Given the description of an element on the screen output the (x, y) to click on. 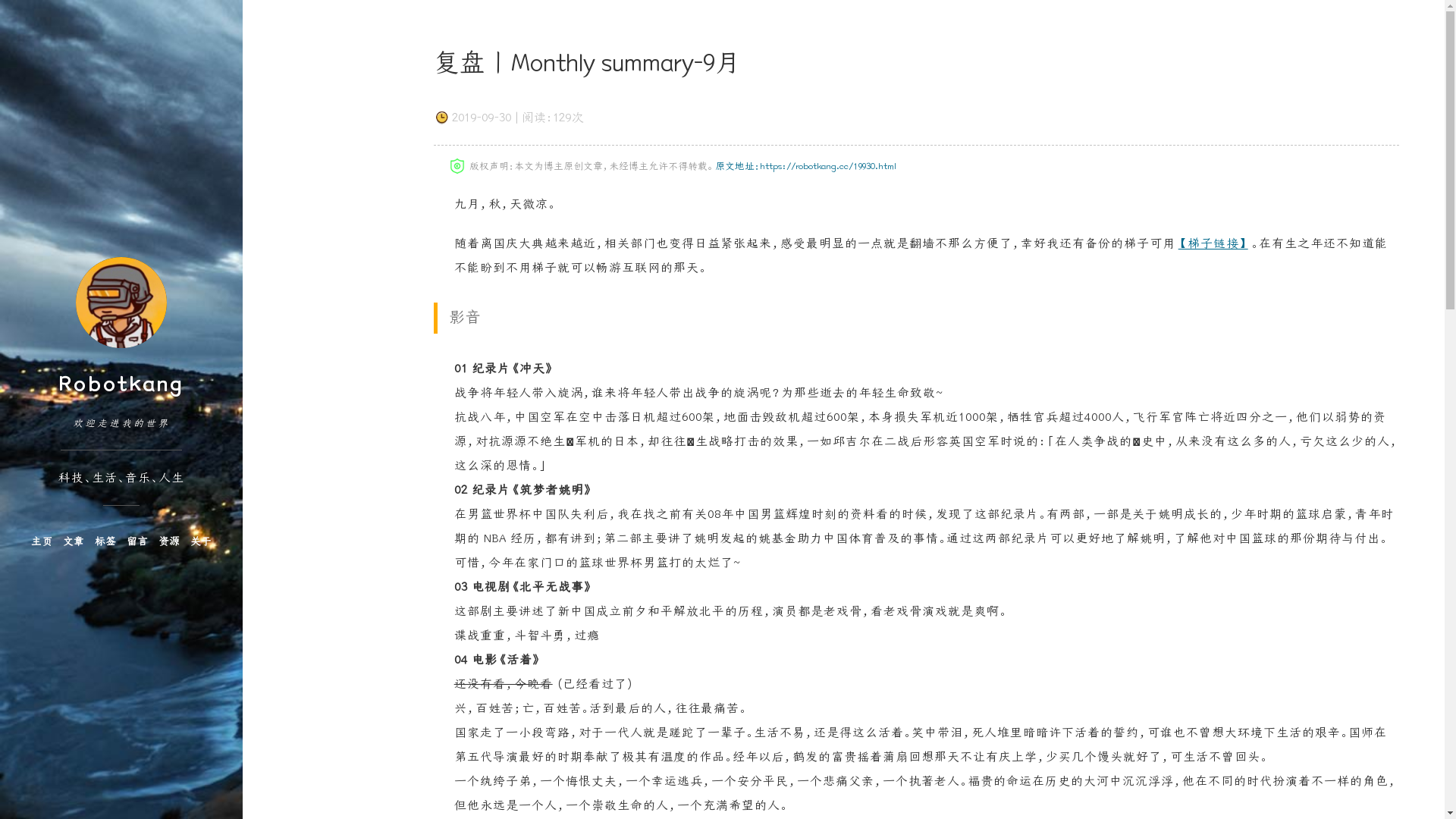
Robotkang Element type: text (121, 384)
